Given the description of an element on the screen output the (x, y) to click on. 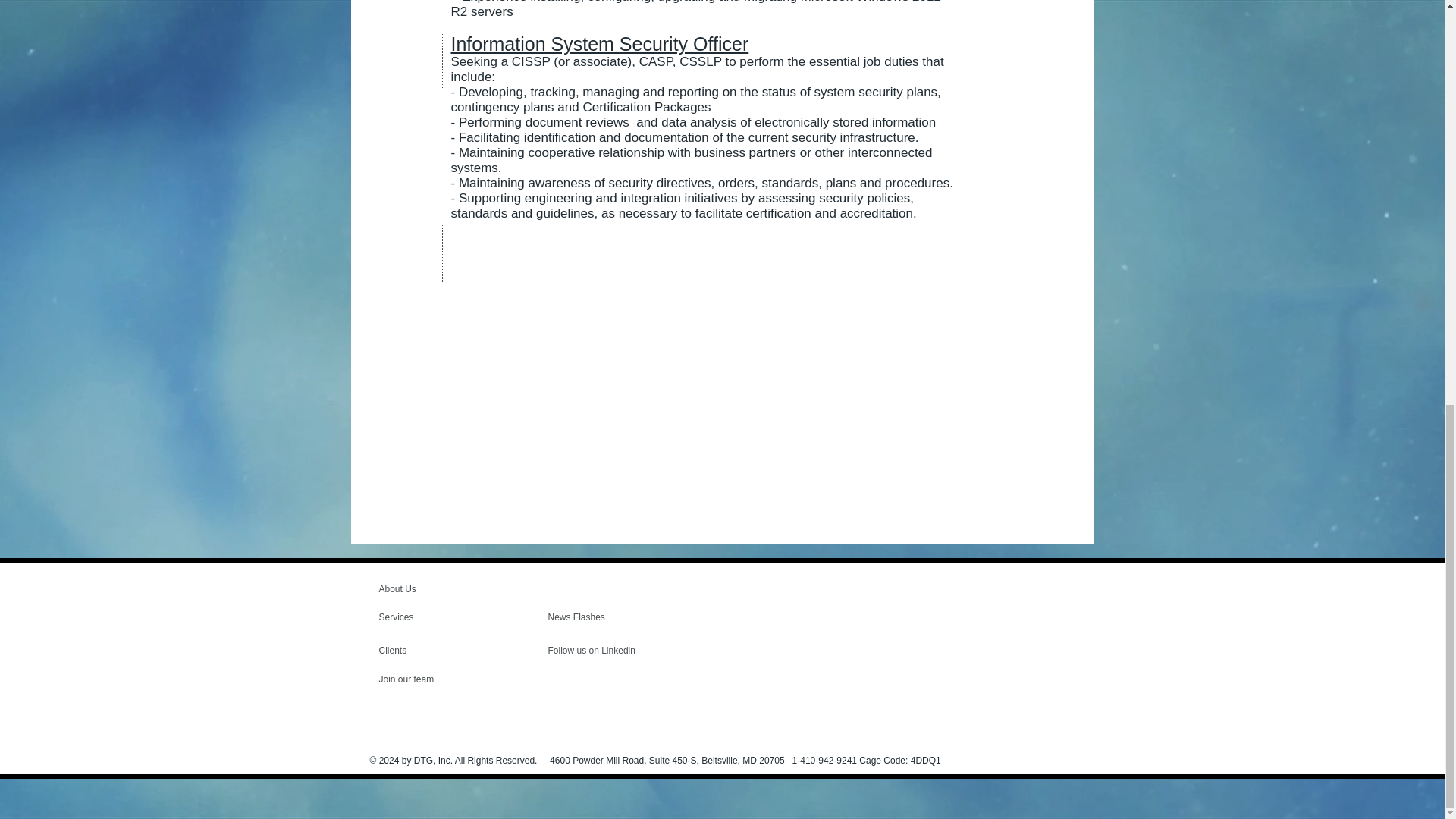
Join our team (419, 679)
News Flashes (590, 617)
Services (421, 617)
Clients (419, 650)
About Us (436, 589)
Follow us on Linkedin (593, 650)
Information System Security Officer (598, 43)
